Given the description of an element on the screen output the (x, y) to click on. 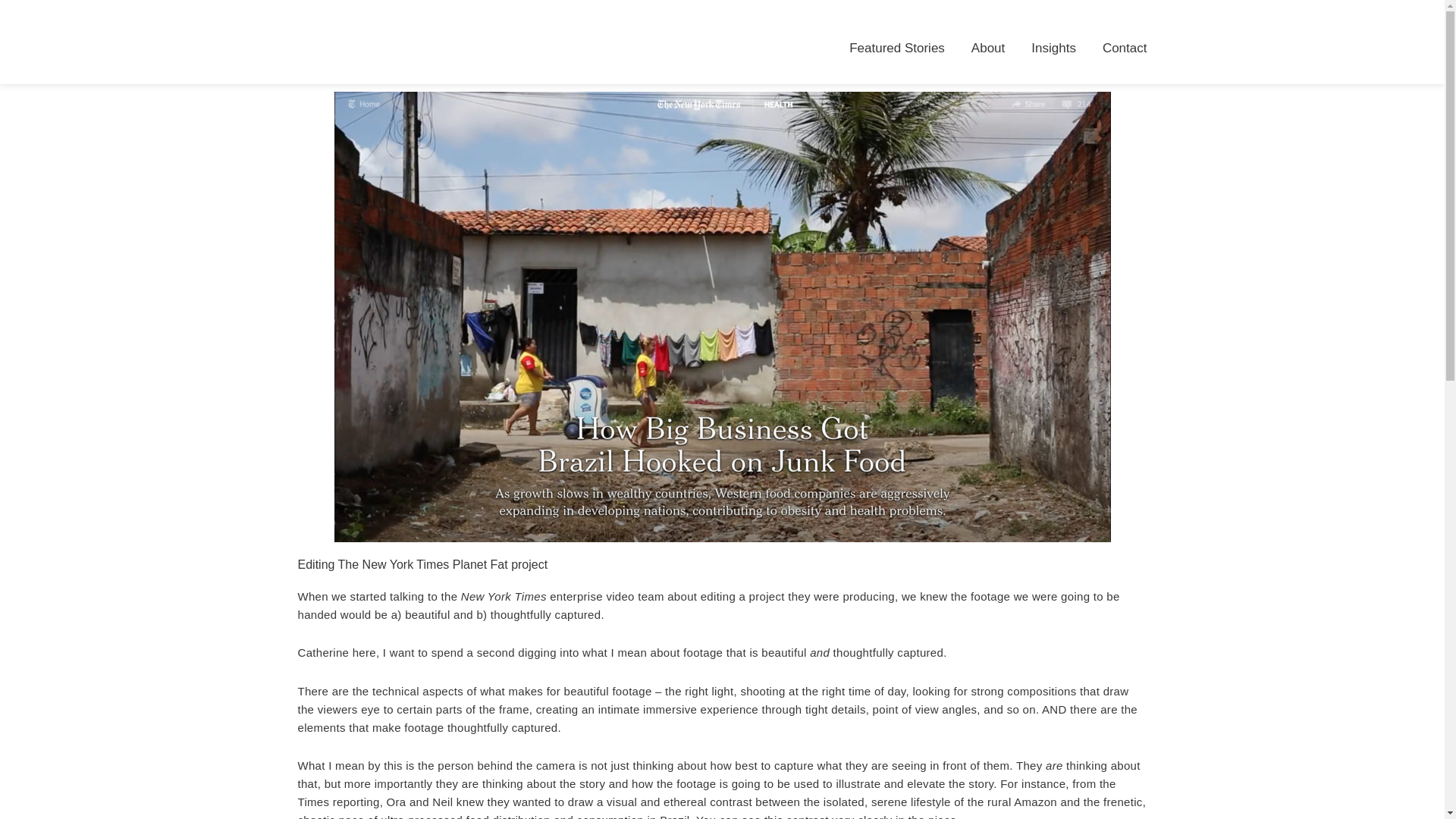
About (987, 48)
Contact (1124, 48)
Featured Stories (896, 48)
Insights (1052, 48)
